Given the description of an element on the screen output the (x, y) to click on. 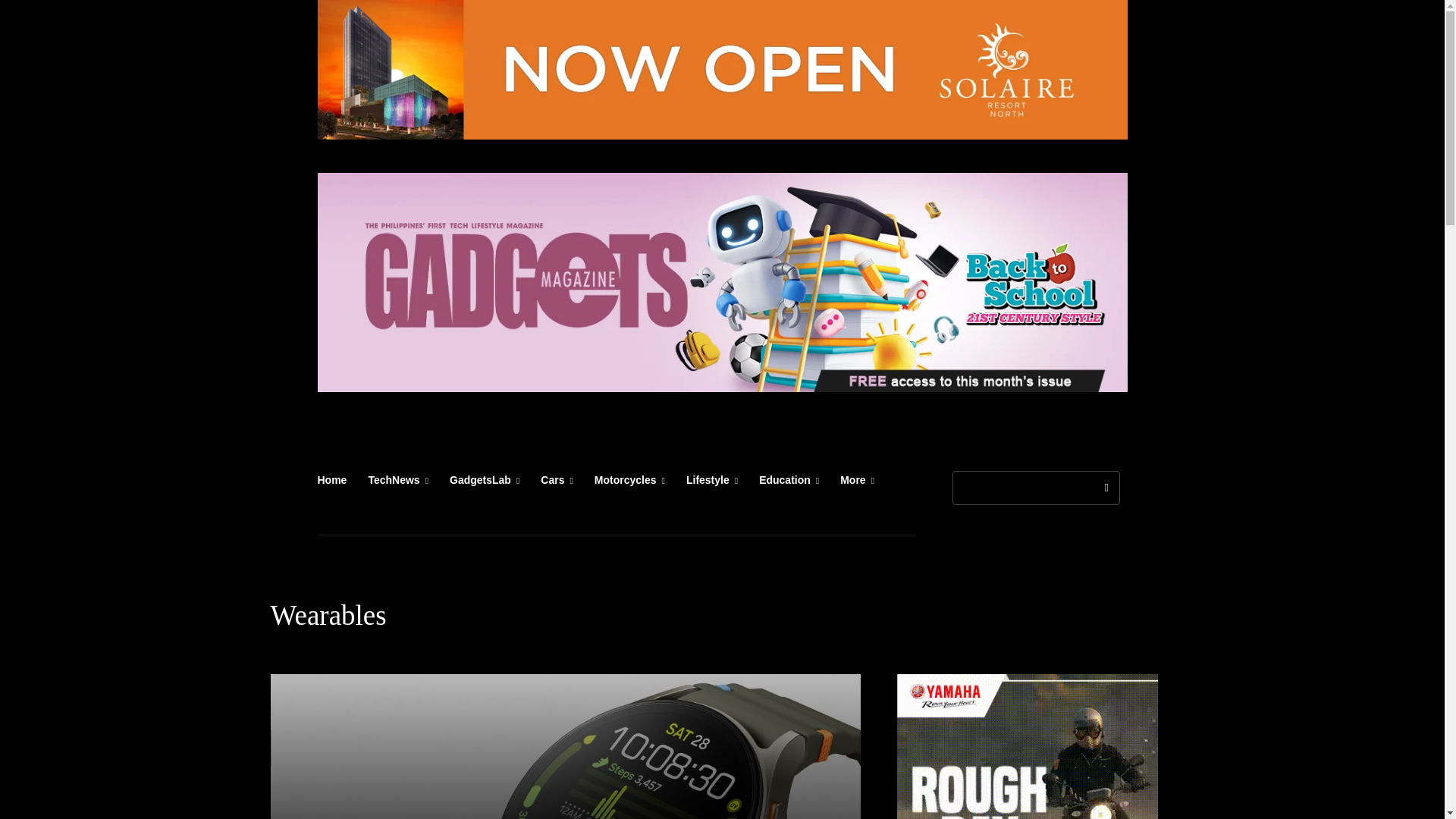
TechNews (398, 479)
